Given the description of an element on the screen output the (x, y) to click on. 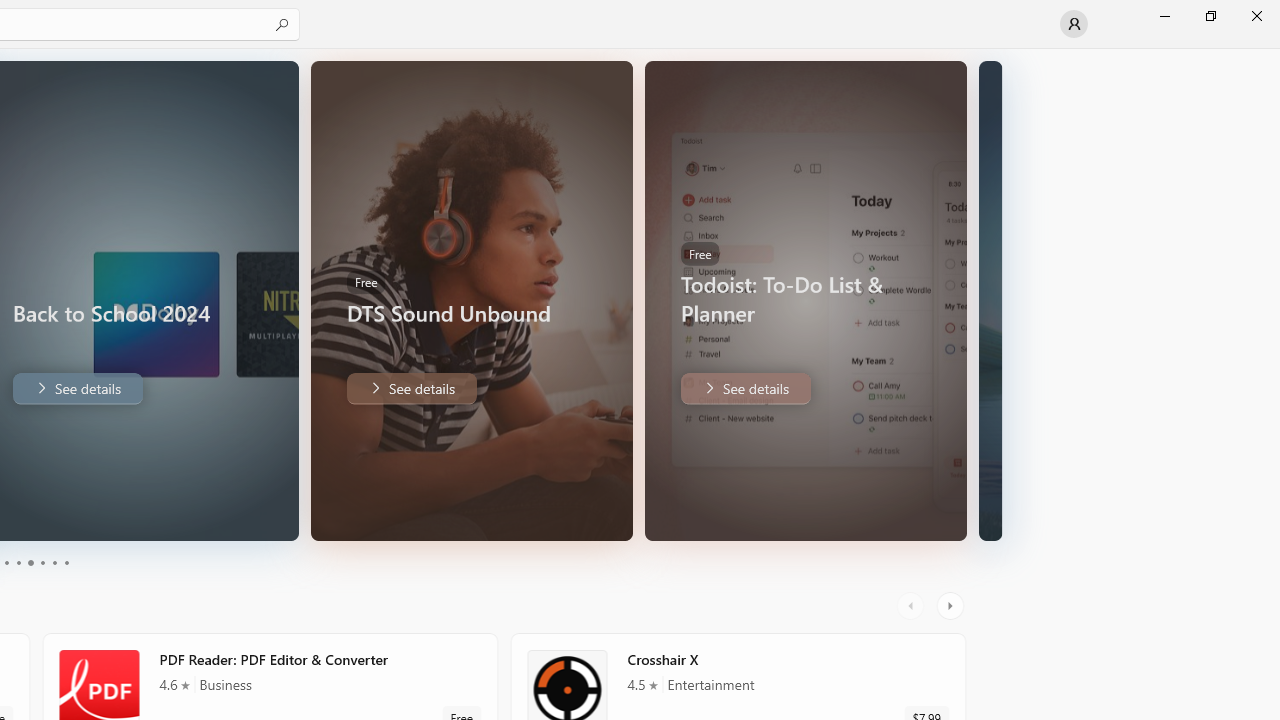
AutomationID: Image (989, 300)
Minimize Microsoft Store (1164, 15)
